Given the description of an element on the screen output the (x, y) to click on. 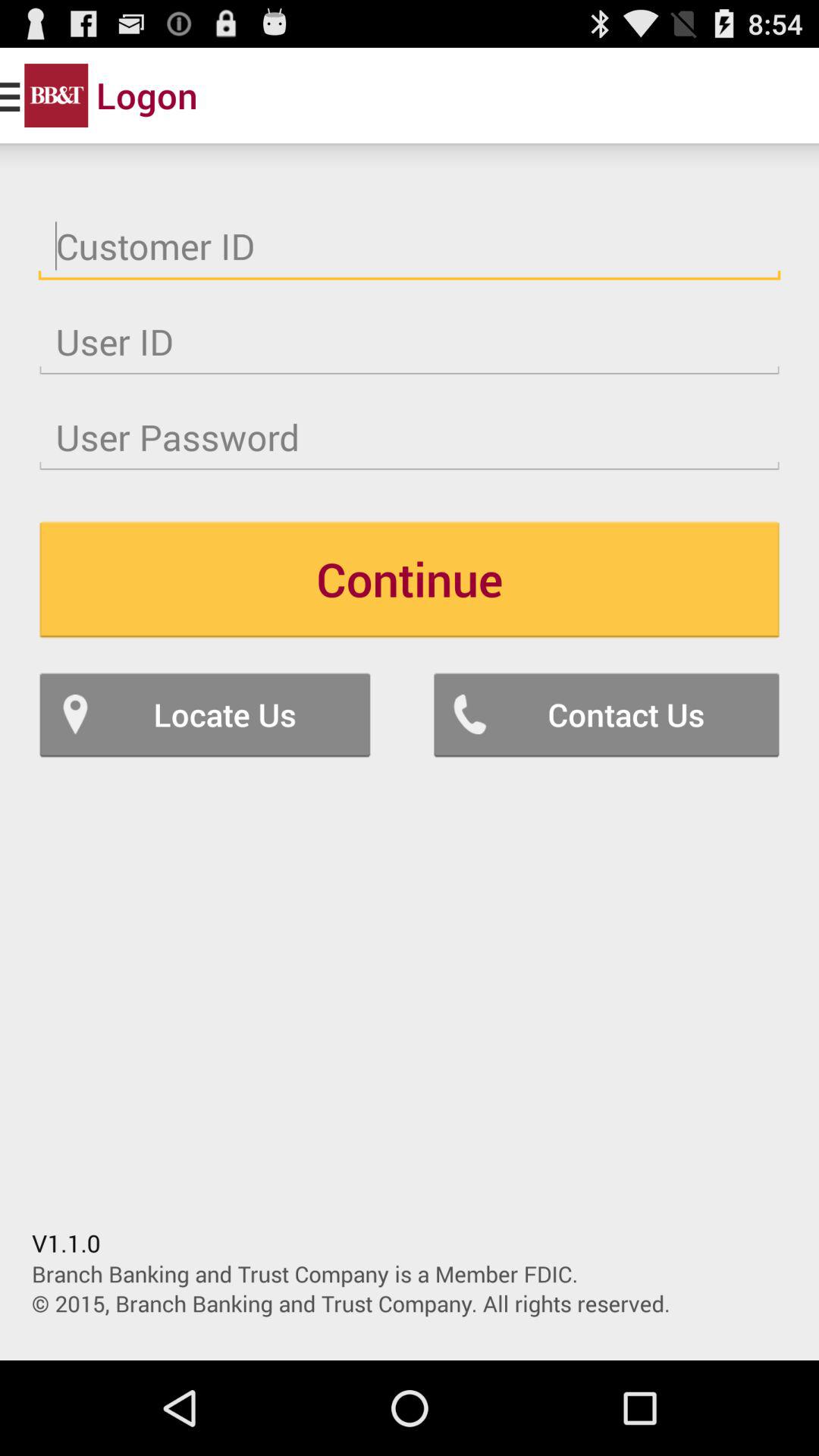
turn off contact us icon (606, 714)
